Given the description of an element on the screen output the (x, y) to click on. 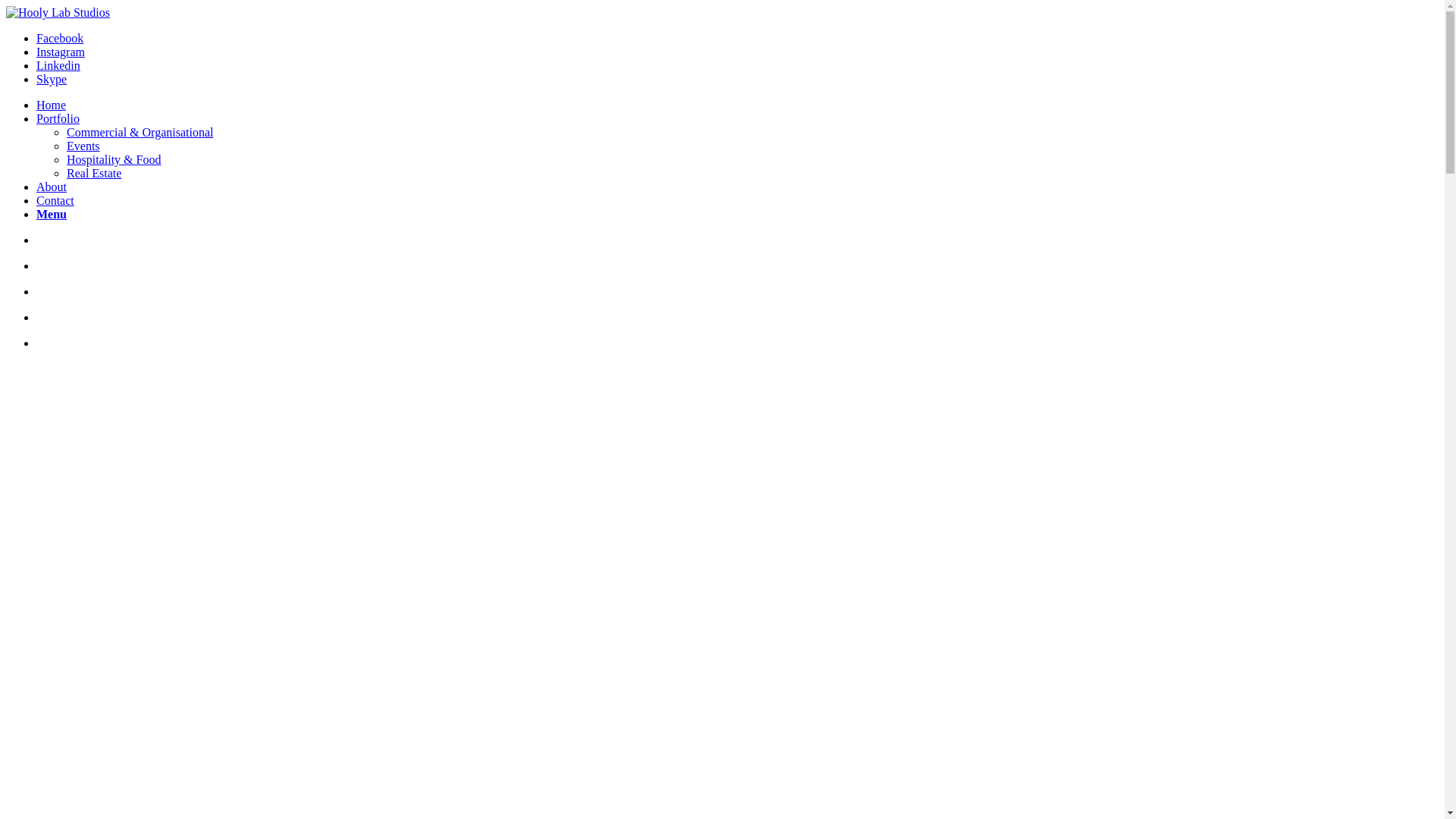
Linkedin Element type: text (58, 65)
Contact Element type: text (55, 200)
Events Element type: text (83, 145)
Menu Element type: text (51, 213)
Facebook Element type: text (59, 37)
Skype Element type: text (51, 78)
Home Element type: text (50, 104)
About Element type: text (51, 186)
Real Estate Element type: text (93, 172)
Instagram Element type: text (60, 51)
Hospitality & Food Element type: text (113, 159)
Commercial & Organisational Element type: text (139, 131)
Portfolio Element type: text (57, 118)
